Given the description of an element on the screen output the (x, y) to click on. 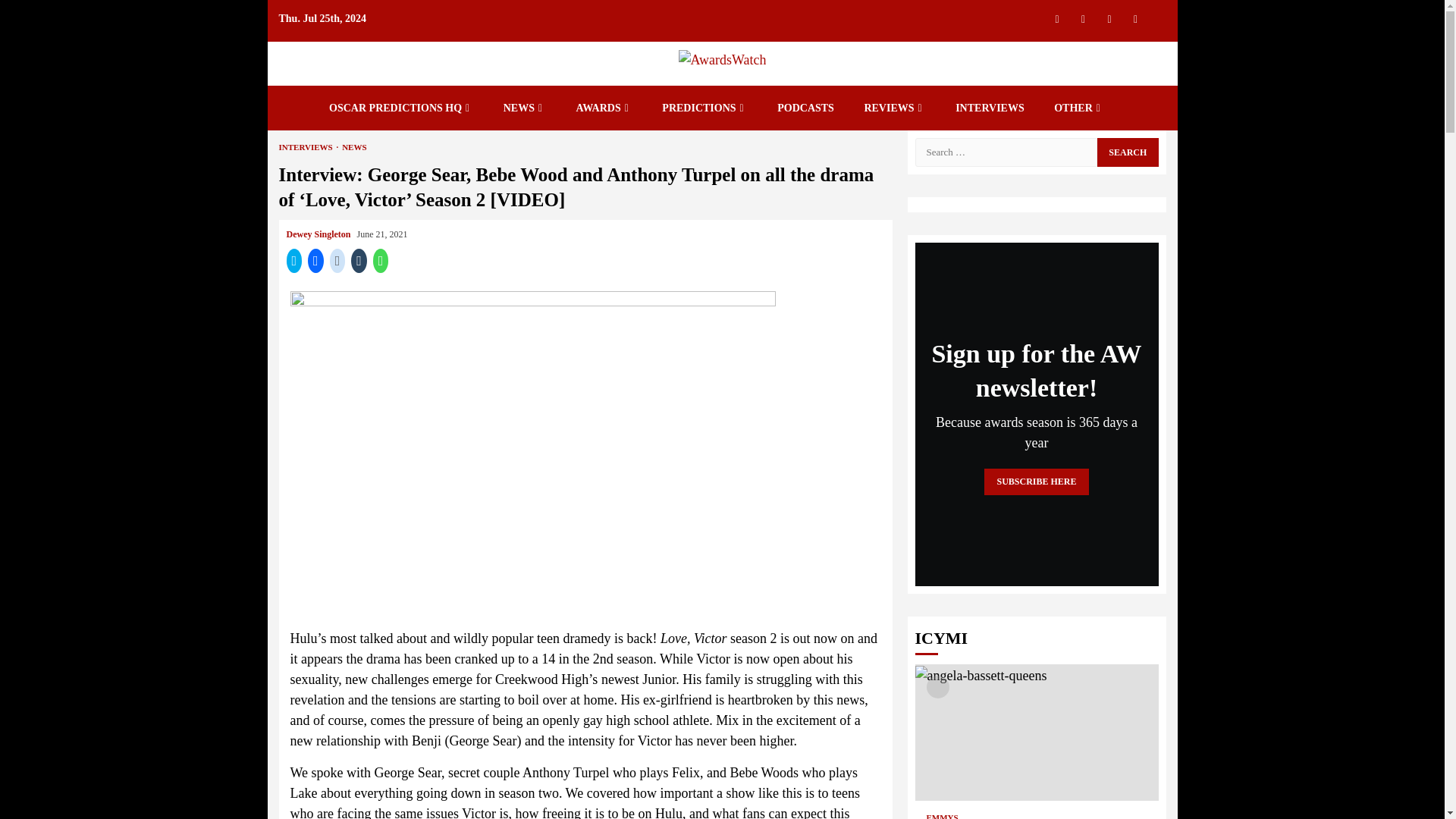
YouTube (1135, 18)
Click to share on Facebook (315, 260)
Search (1127, 152)
Search (1126, 44)
Click to share on Reddit (338, 260)
PODCASTS (805, 107)
OSCAR PREDICTIONS HQ (401, 107)
Instagram (1082, 18)
AWARDS (603, 107)
INTERVIEWS (990, 107)
REVIEWS (893, 107)
Click to share on WhatsApp (380, 260)
Click to share on Tumblr (358, 260)
Search (1127, 152)
Click to share on Twitter (294, 260)
